Given the description of an element on the screen output the (x, y) to click on. 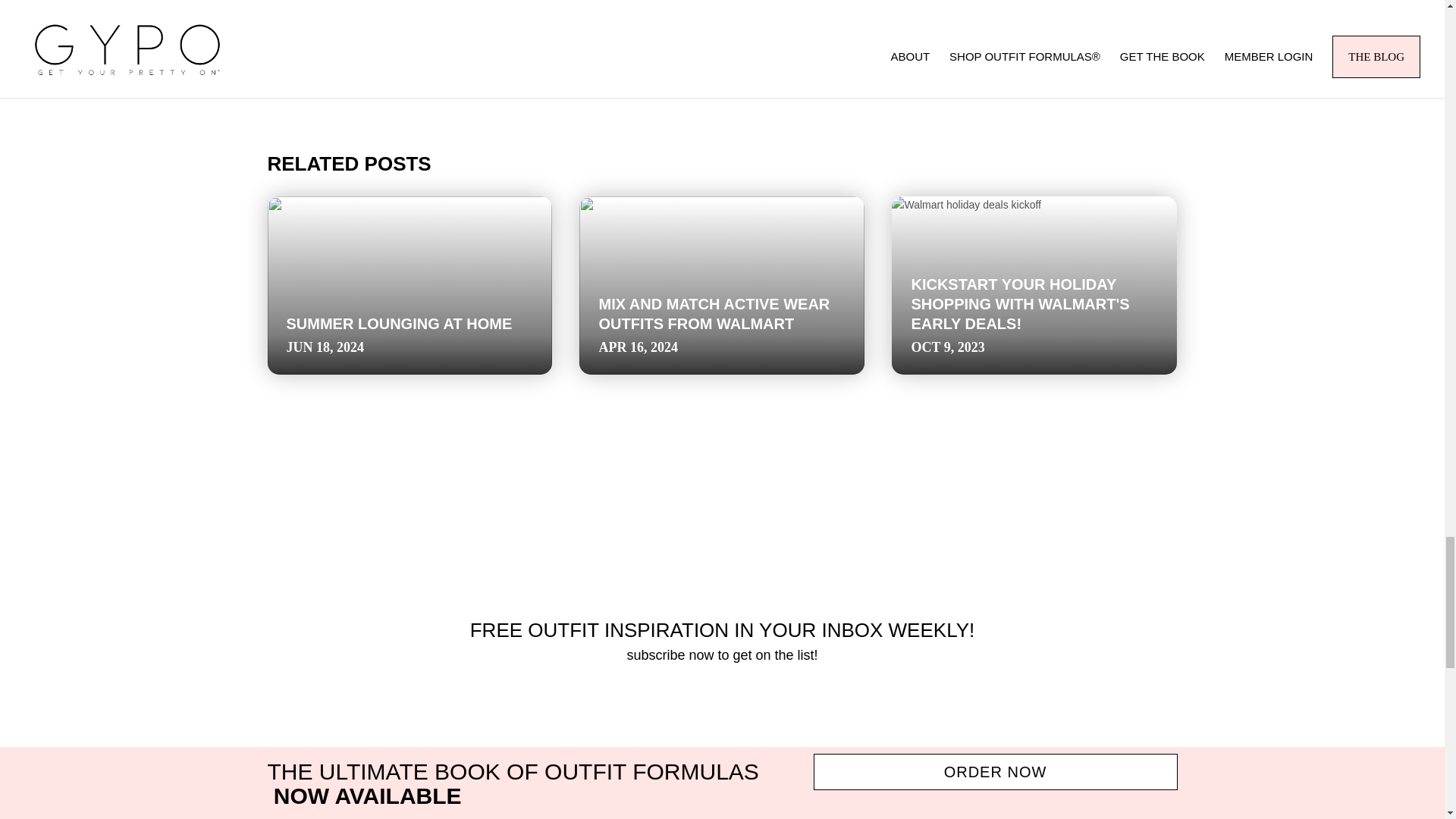
SUMMER LOUNGING AT HOME (399, 323)
MIX AND MATCH ACTIVE WEAR OUTFITS FROM WALMART (713, 313)
KICKSTART YOUR HOLIDAY SHOPPING WITH WALMART'S EARLY DEALS! (1020, 304)
